Given the description of an element on the screen output the (x, y) to click on. 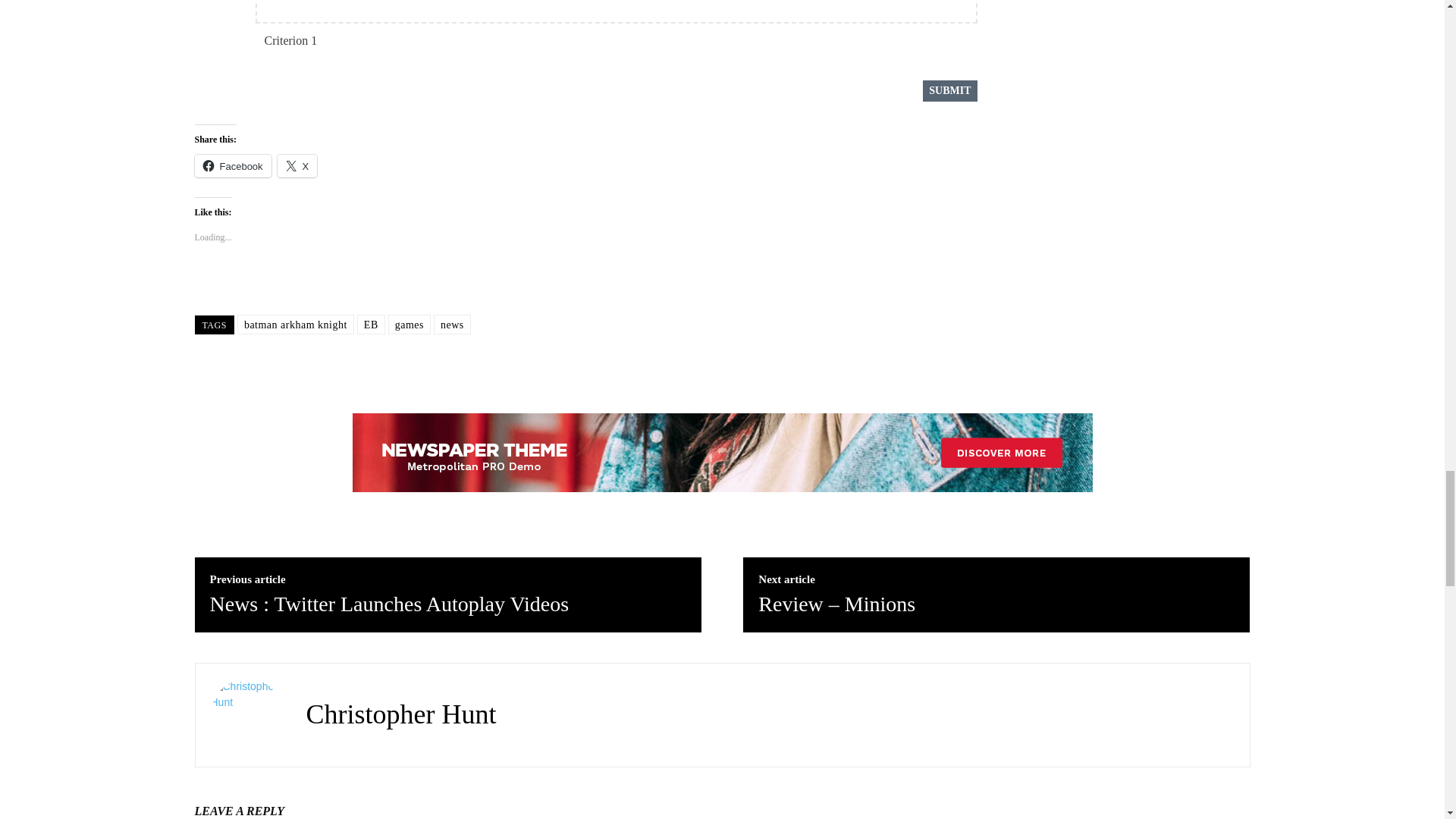
Submit (949, 90)
